Given the description of an element on the screen output the (x, y) to click on. 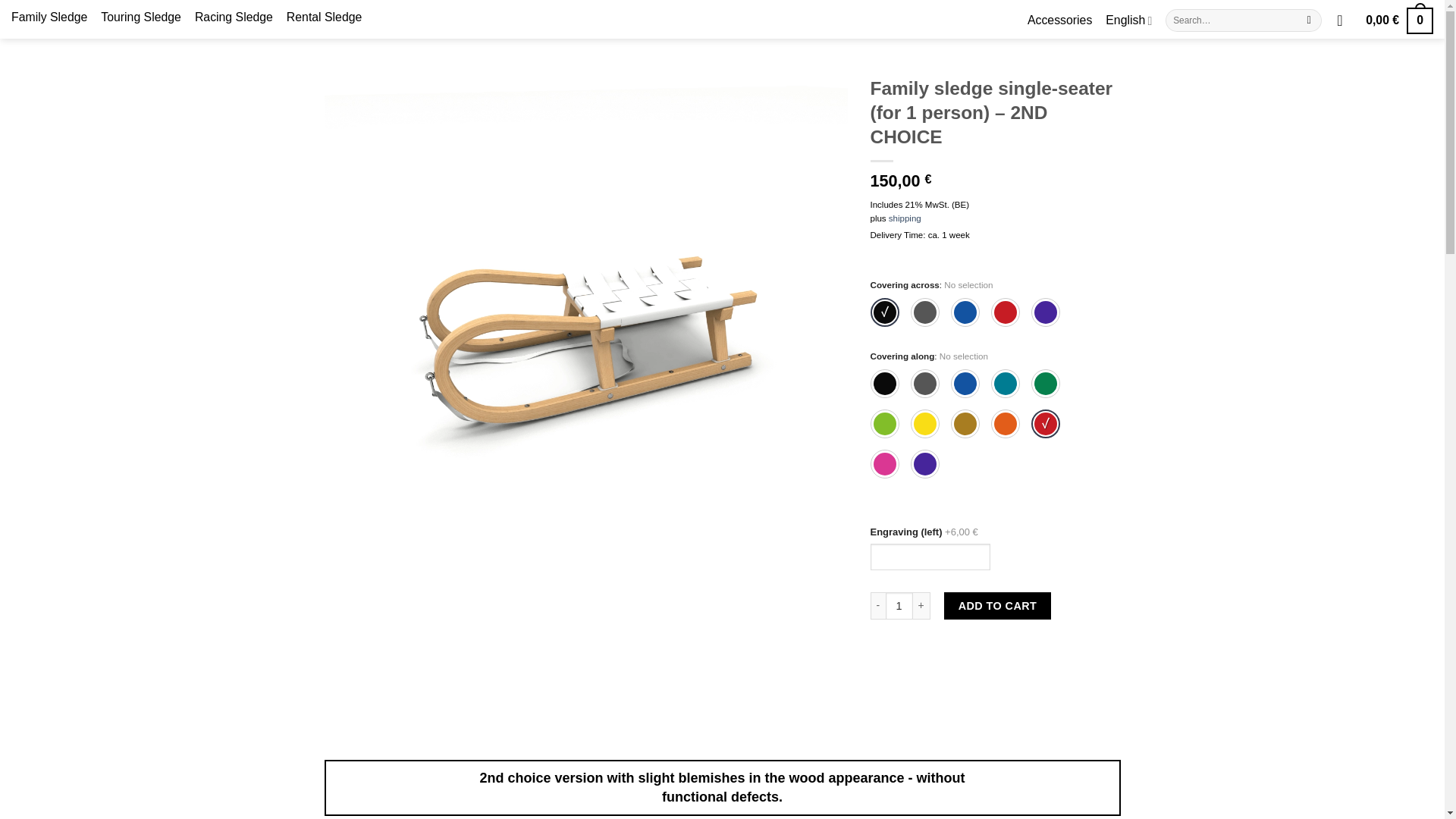
Cart (1398, 22)
Accessories (1059, 20)
Qty (898, 605)
Racing Sledge (234, 16)
1 (898, 605)
Rental Sledge (323, 16)
Search (1308, 20)
Family Sledge (49, 16)
shipping (904, 217)
English (1128, 20)
